Given the description of an element on the screen output the (x, y) to click on. 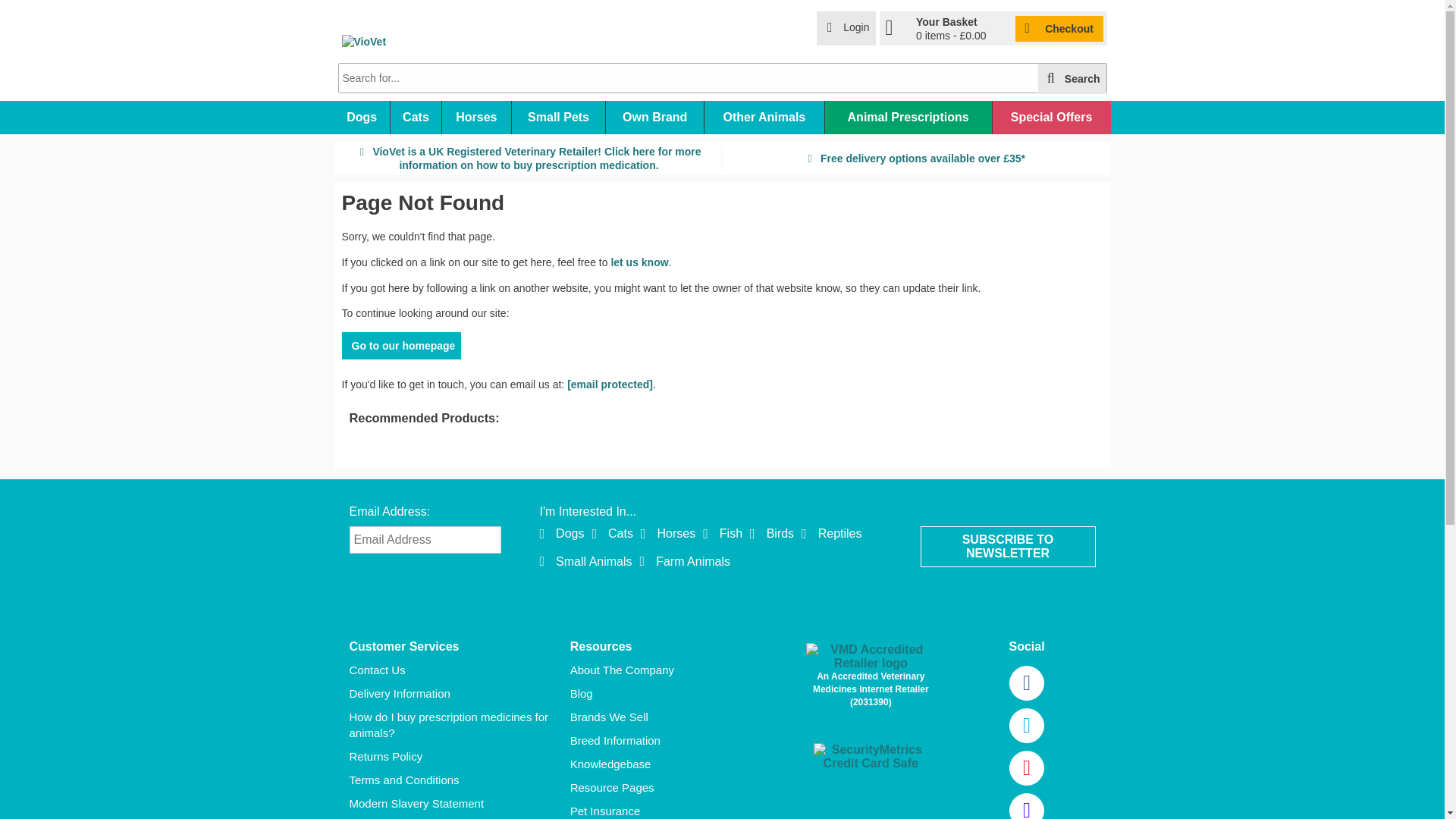
Dogs (360, 117)
Login (845, 28)
Search (1072, 78)
Checkout (1058, 27)
